Given the description of an element on the screen output the (x, y) to click on. 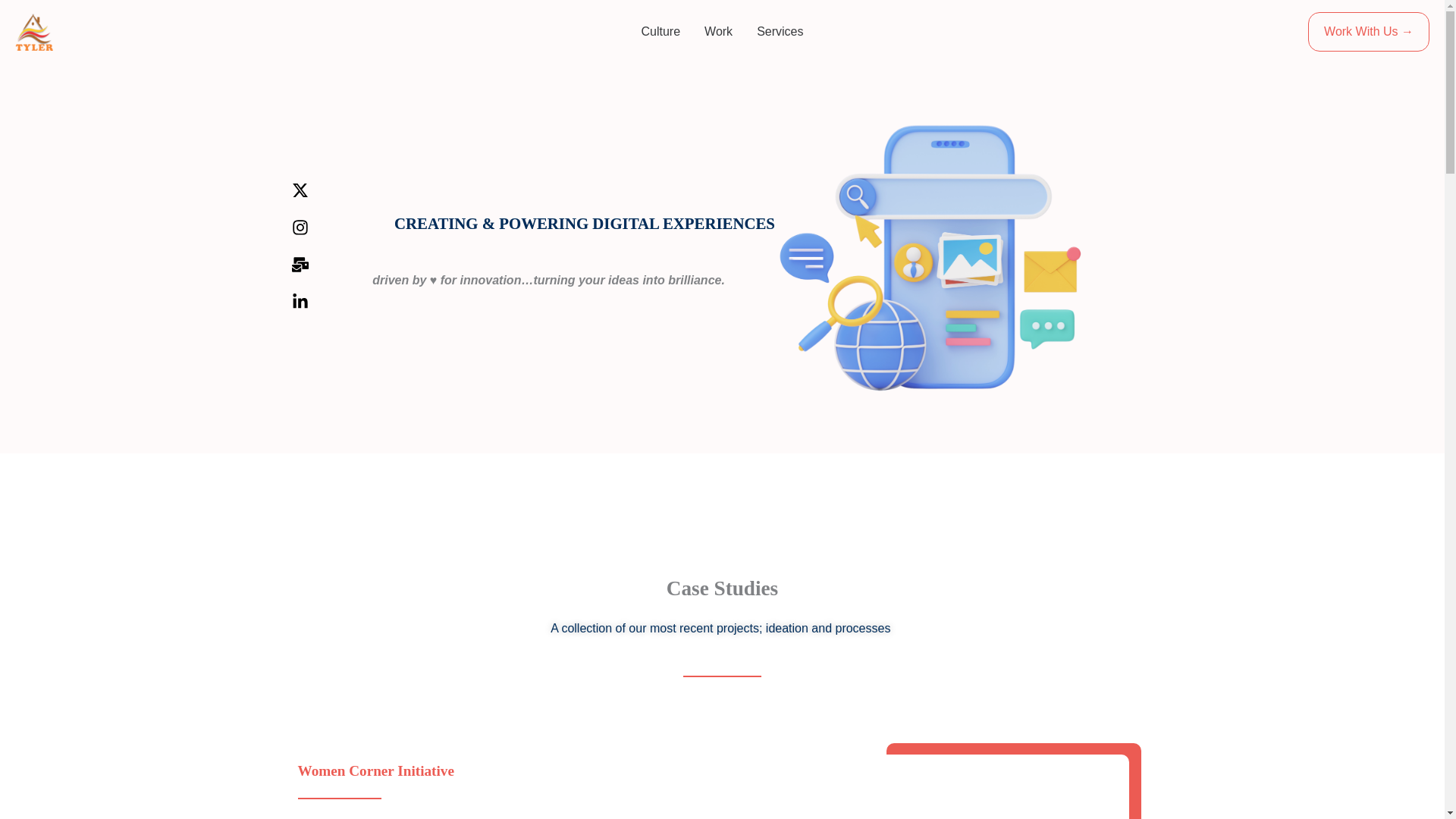
Work (718, 31)
Culture (660, 31)
Services (779, 31)
